Given the description of an element on the screen output the (x, y) to click on. 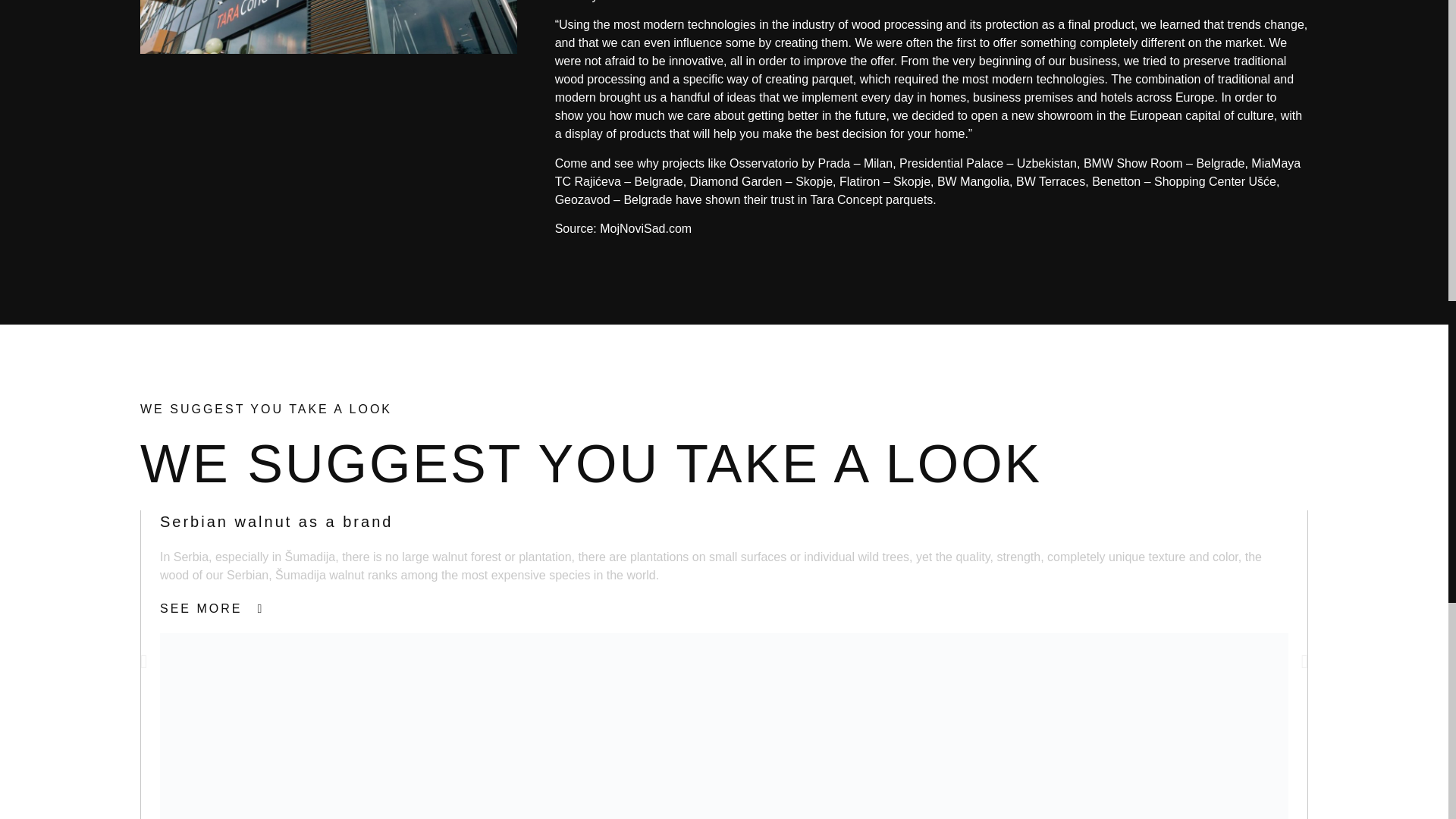
SEE MORE (211, 608)
Serbian walnut as a brand (276, 521)
